Given the description of an element on the screen output the (x, y) to click on. 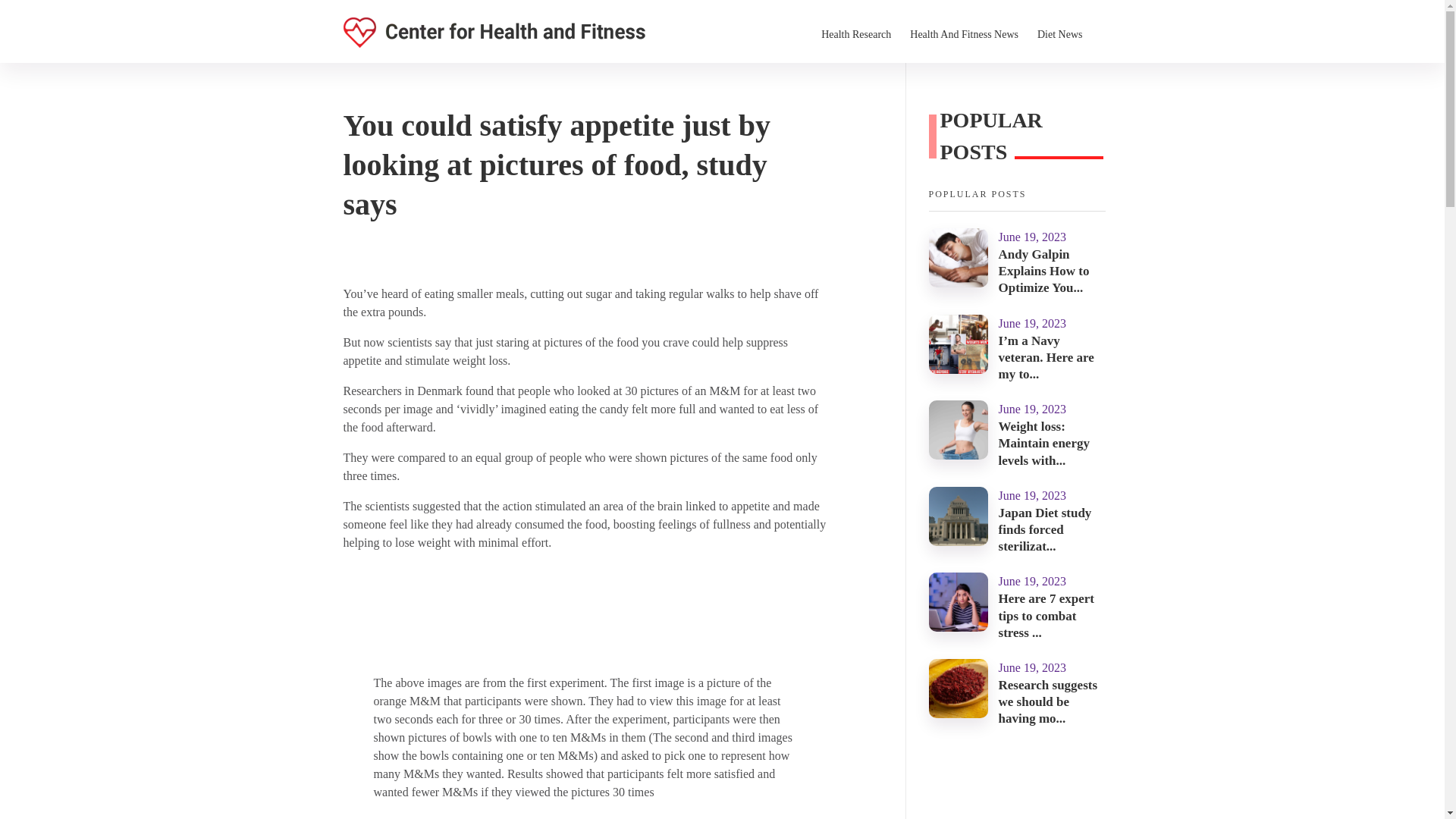
Research suggests we should be having mo... (1047, 701)
Here are 7 expert tips to combat stress ... (1046, 615)
Andy Galpin Explains How to Optimize You... (1043, 270)
Health Research (865, 33)
Weight loss: Maintain energy levels with... (1043, 442)
Center for Health and Fitness (493, 32)
Health And Fitness News (973, 33)
Center for Health and Fitness (469, 55)
Japan Diet study finds forced sterilizat... (1045, 529)
Diet News (1069, 33)
